Given the description of an element on the screen output the (x, y) to click on. 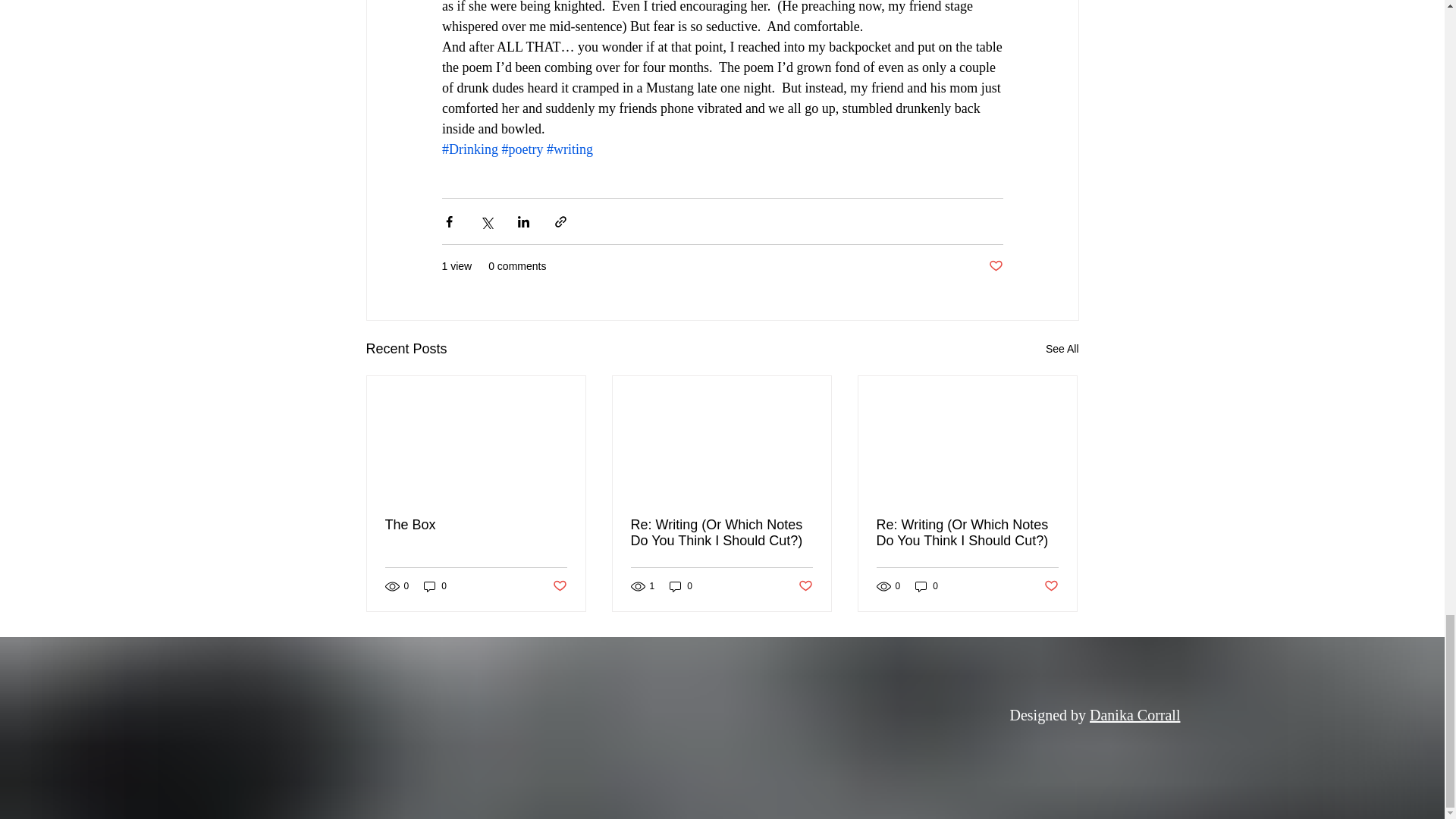
0 (681, 585)
Post not marked as liked (558, 586)
Post not marked as liked (804, 586)
0 (926, 585)
0 (435, 585)
See All (1061, 349)
Danika Corrall (1134, 714)
Post not marked as liked (1050, 586)
The Box (476, 524)
Post not marked as liked (995, 266)
